Given the description of an element on the screen output the (x, y) to click on. 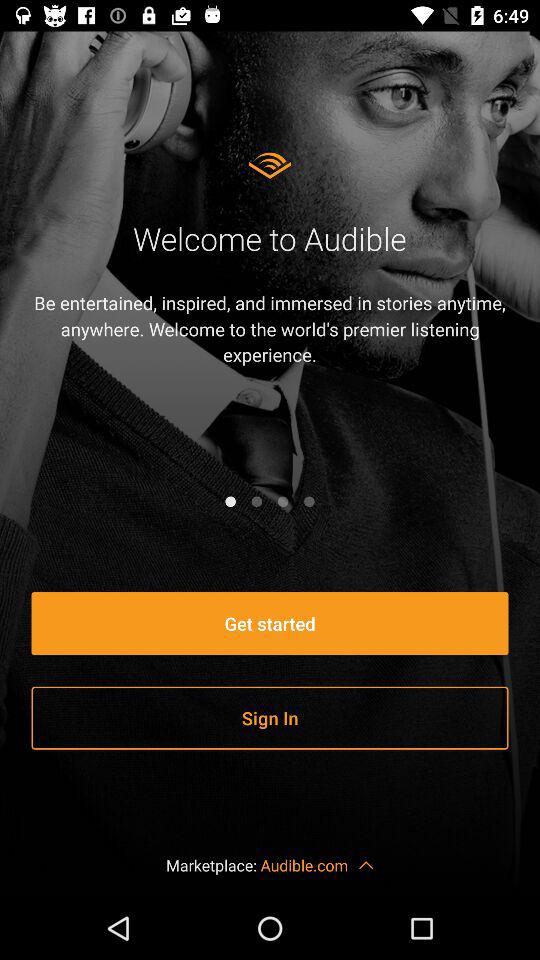
turn on icon below the get started item (269, 717)
